Given the description of an element on the screen output the (x, y) to click on. 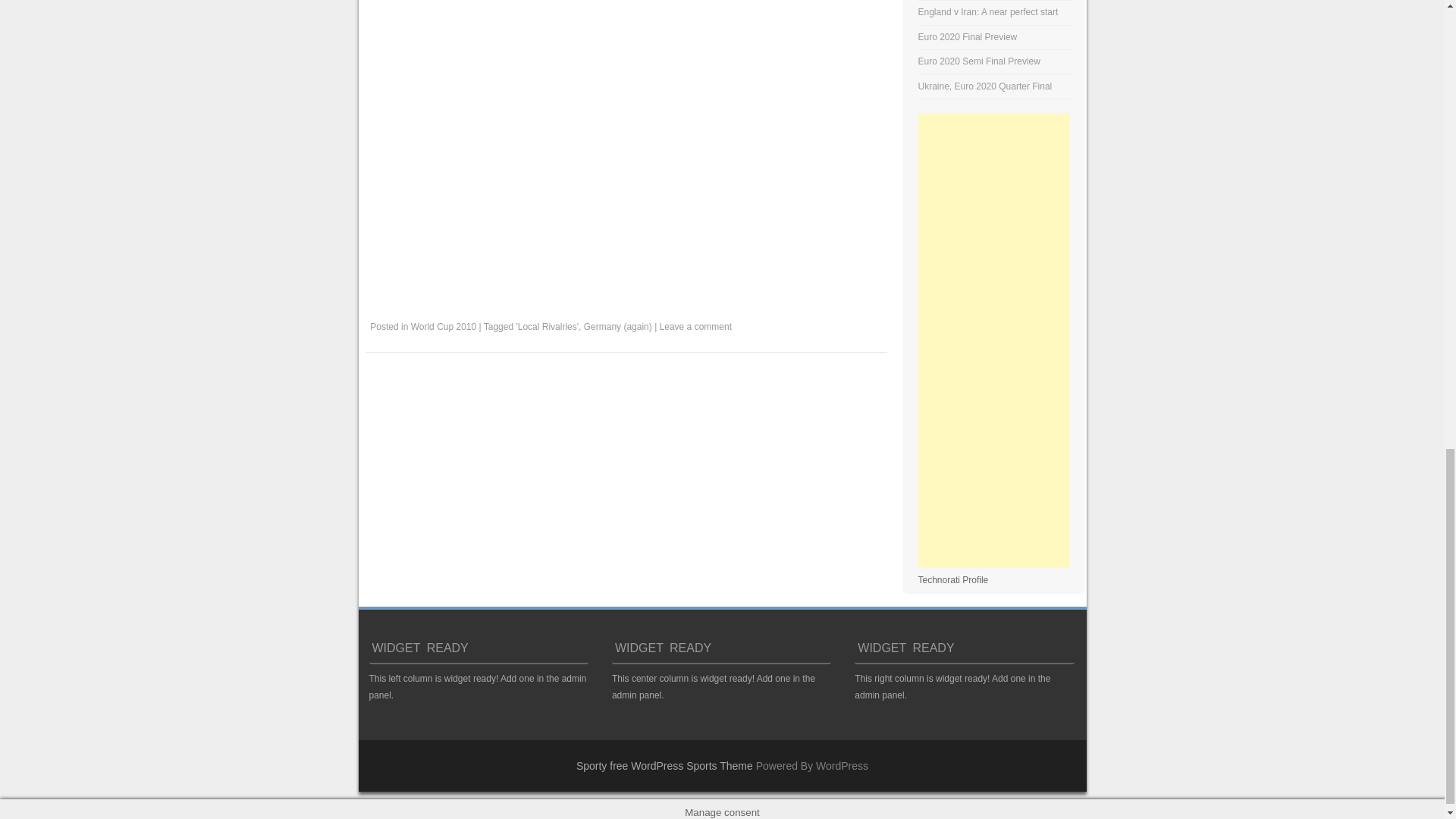
Euro 2020 Final Preview (967, 36)
Sporty free WordPress Sports Theme (664, 766)
'Local Rivalries' (546, 326)
Euro 2020 Semi Final Preview (979, 61)
World Cup 2010 (443, 326)
England v Iran: A near perfect start (988, 11)
Ukraine, Euro 2020 Quarter Final (985, 86)
Technorati Profile (953, 579)
Leave a comment (695, 326)
